Given the description of an element on the screen output the (x, y) to click on. 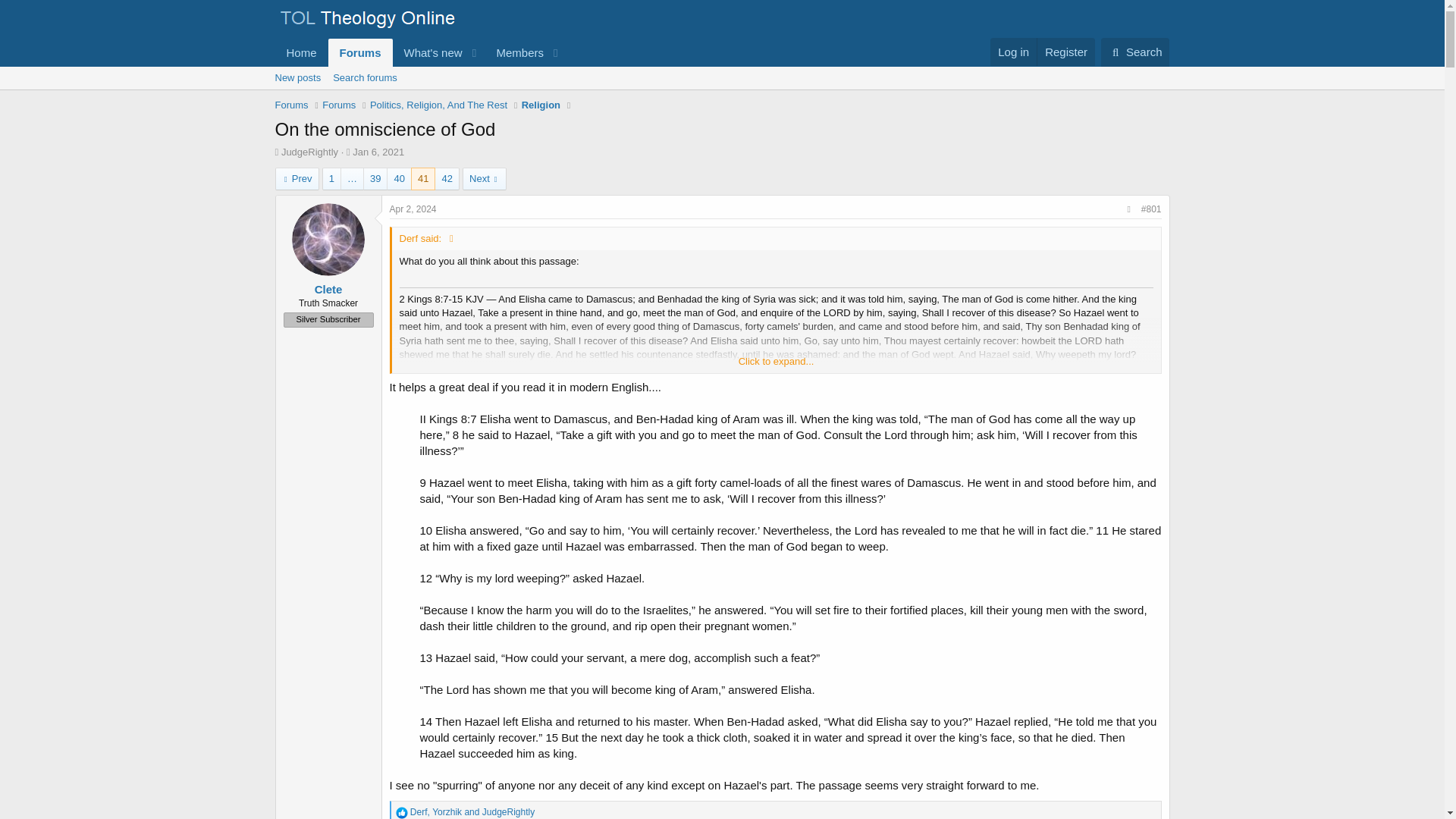
JudgeRightly (309, 152)
Forums (291, 105)
Jan 6, 2021 at 10:45 AM (378, 152)
Search forums (720, 94)
Apr 2, 2024 at 3:01 PM (364, 77)
Log in (419, 69)
Search (419, 52)
